Given the description of an element on the screen output the (x, y) to click on. 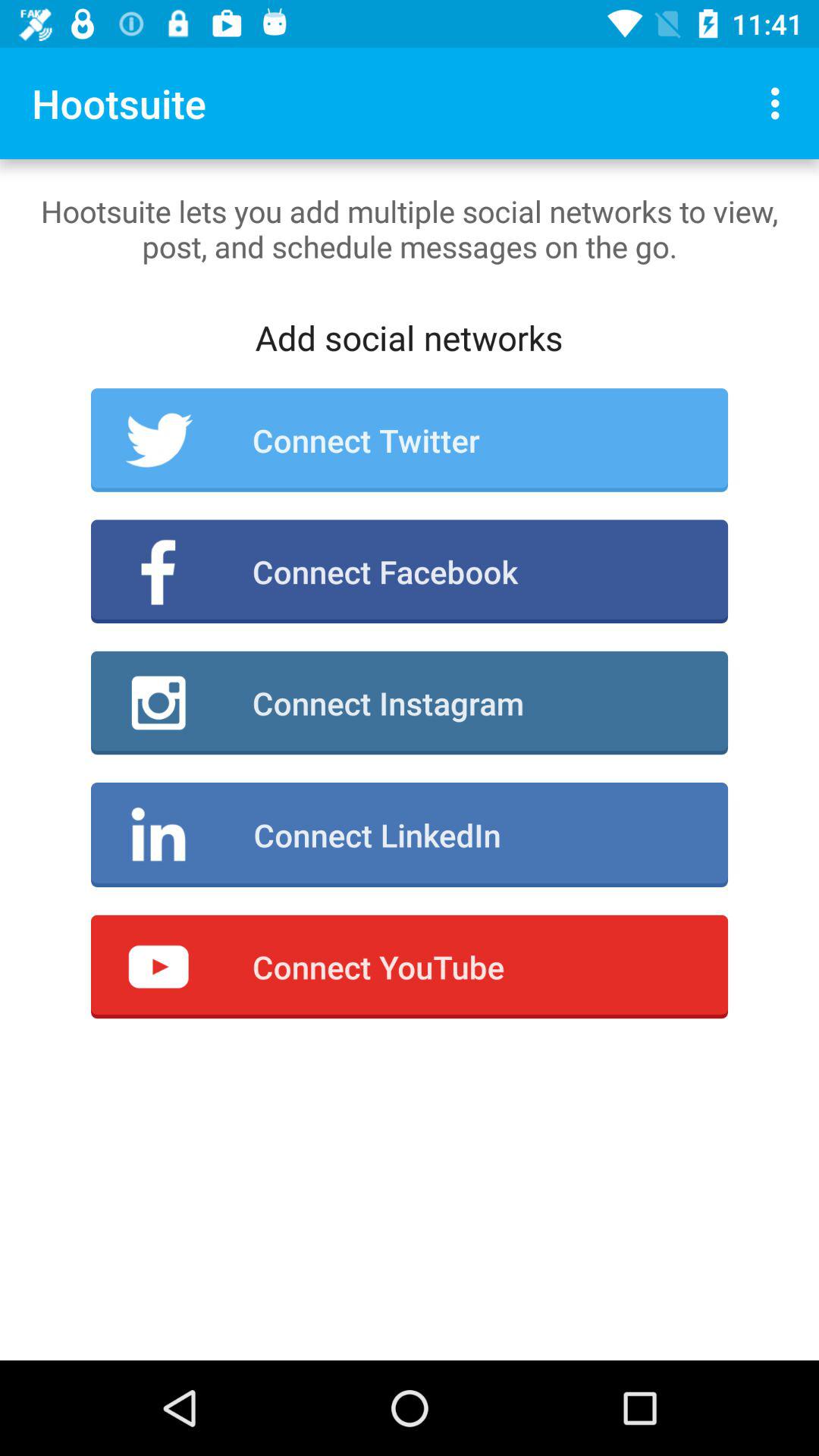
turn on icon above the hootsuite lets you (779, 103)
